Given the description of an element on the screen output the (x, y) to click on. 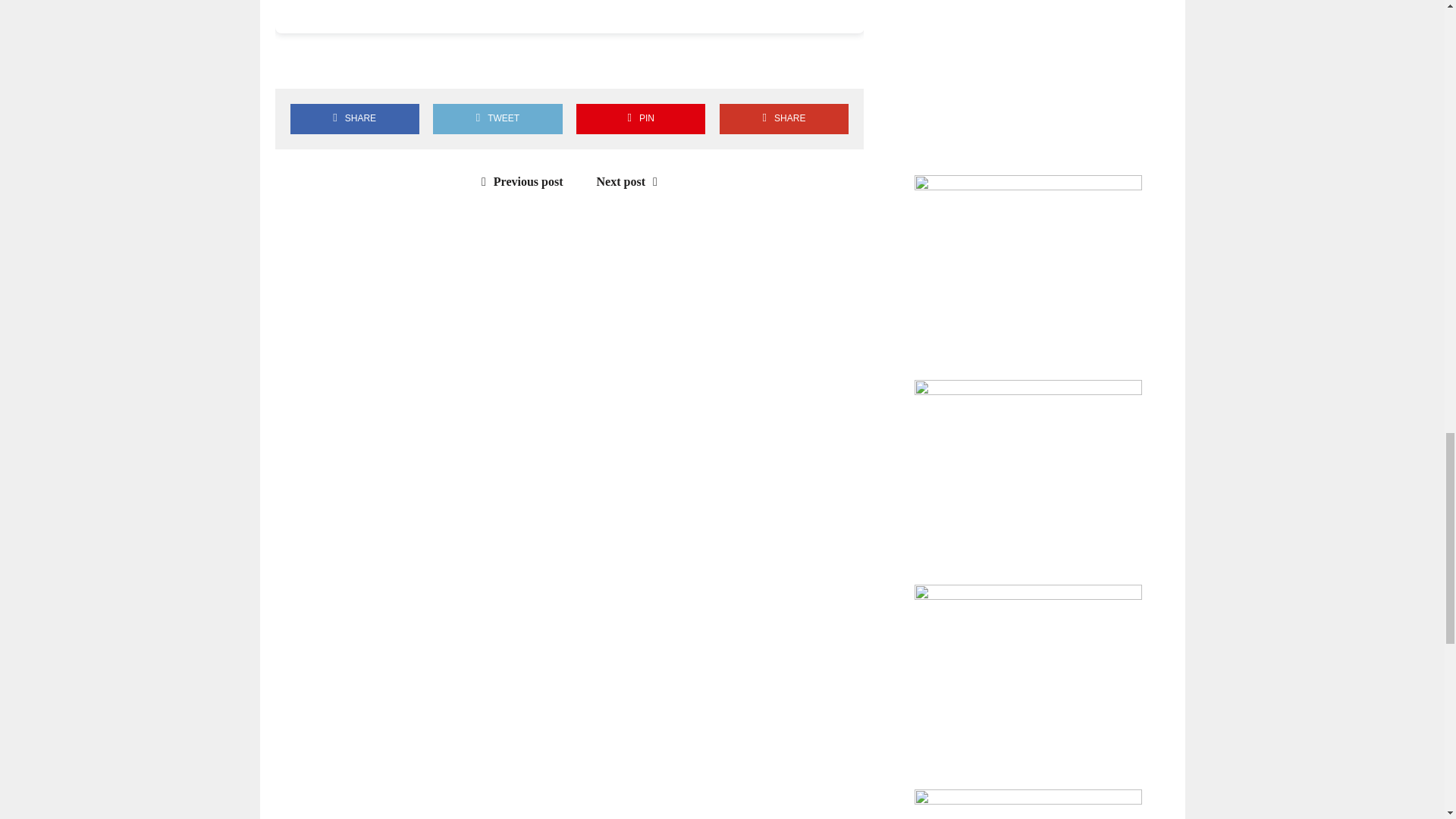
Share on Facebook (293, 63)
Share on Twitter (336, 63)
Share by email (424, 63)
Share on Linkedin (380, 63)
